Given the description of an element on the screen output the (x, y) to click on. 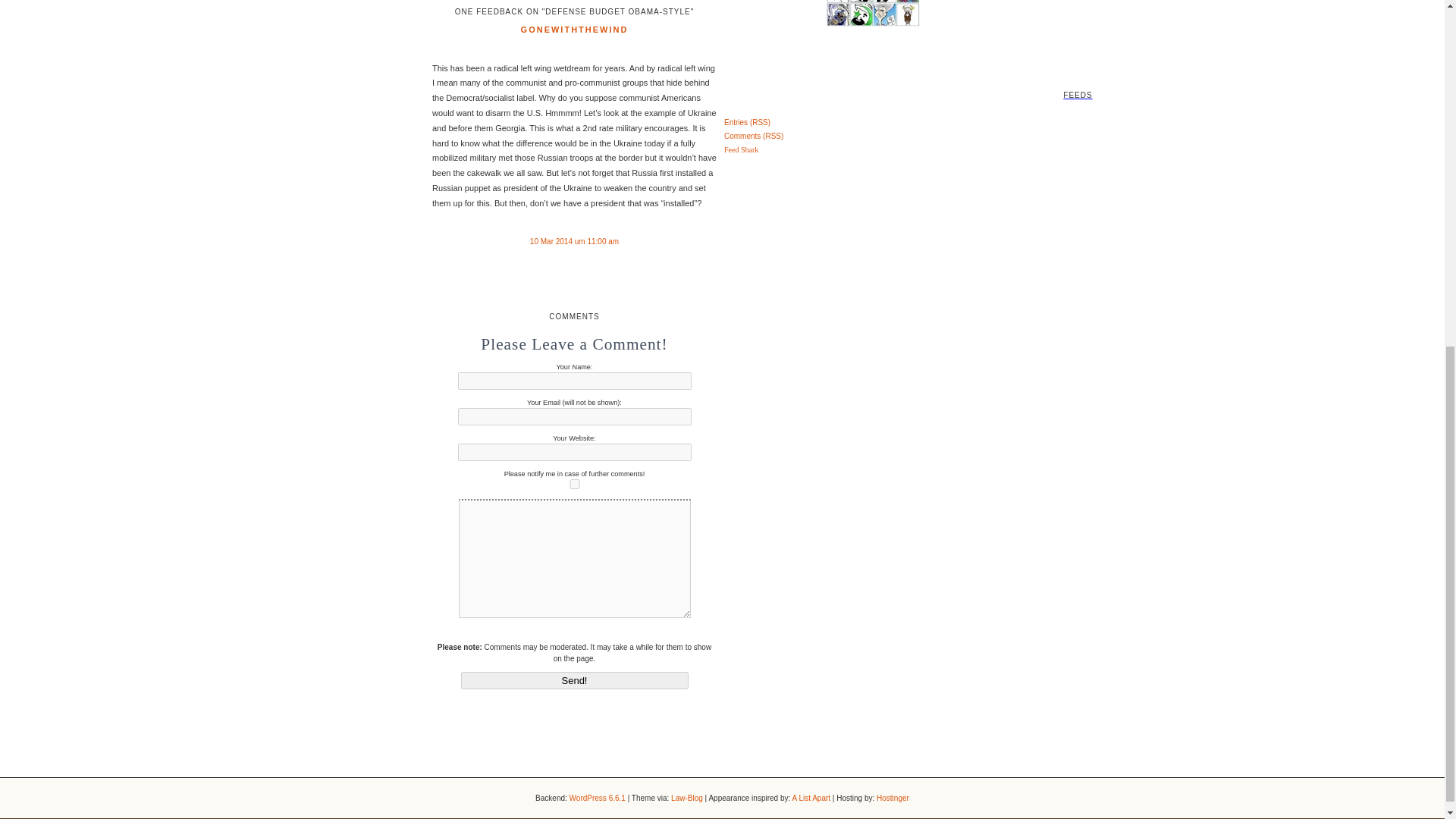
A List Apart (810, 797)
Feed Shark (740, 149)
Send! (574, 680)
WordPress 6.6.1 (597, 797)
Send! (574, 680)
Hostinger (892, 797)
subscribe (574, 483)
10 Mar 2014 um 11:00 am (573, 241)
FEEDS (721, 72)
Law-Blog (687, 797)
